Given the description of an element on the screen output the (x, y) to click on. 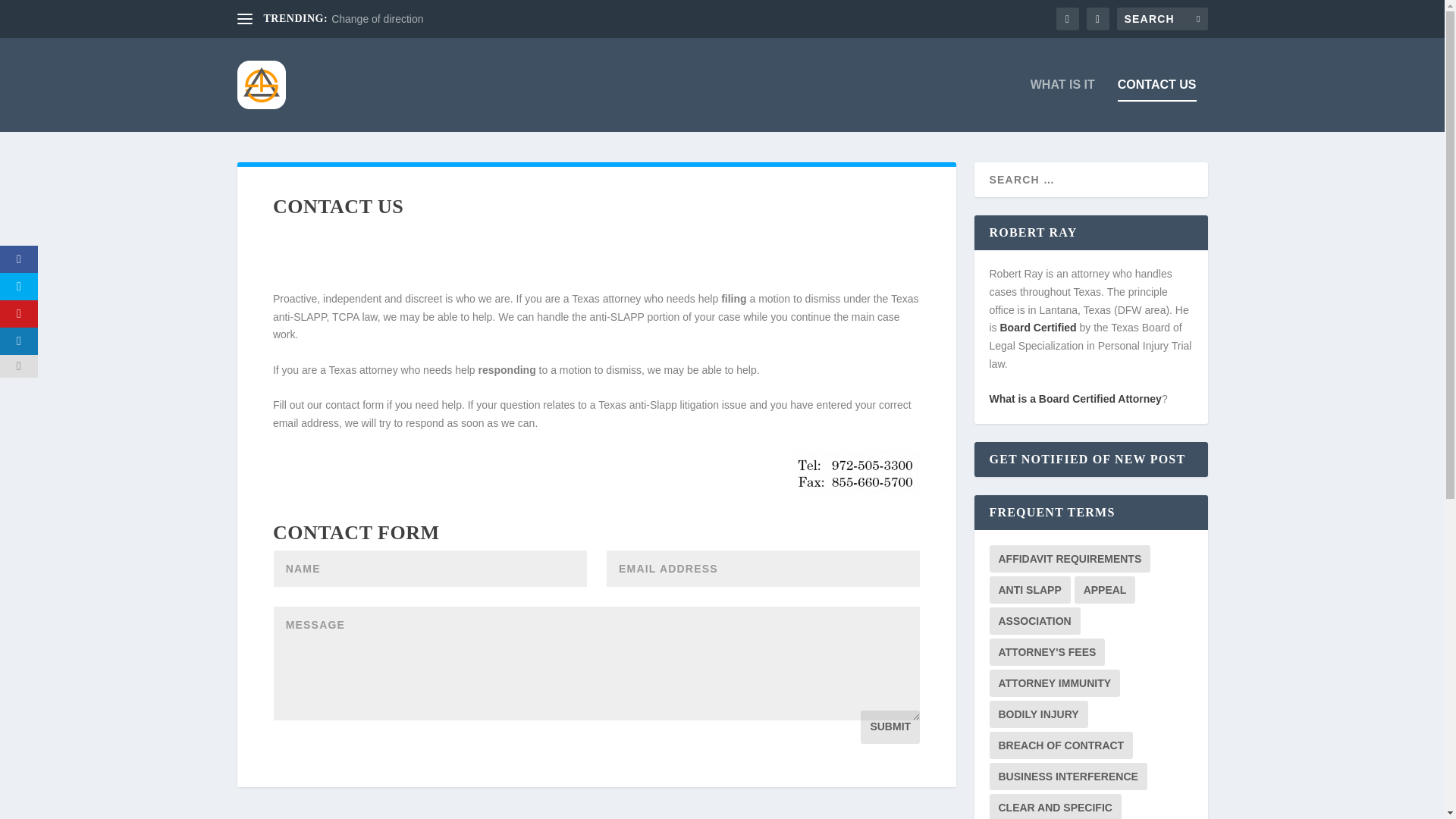
ATTORNEY IMMUNITY (1053, 682)
CLEAR AND SPECIFIC (1054, 806)
CONTACT US (1157, 104)
Change of direction (377, 19)
ANTI SLAPP (1029, 589)
SUBMIT (890, 726)
What is a Board Certified Attorney (1074, 398)
ASSOCIATION (1034, 620)
BODILY INJURY (1037, 714)
WHAT IS IT (1062, 104)
